Given the description of an element on the screen output the (x, y) to click on. 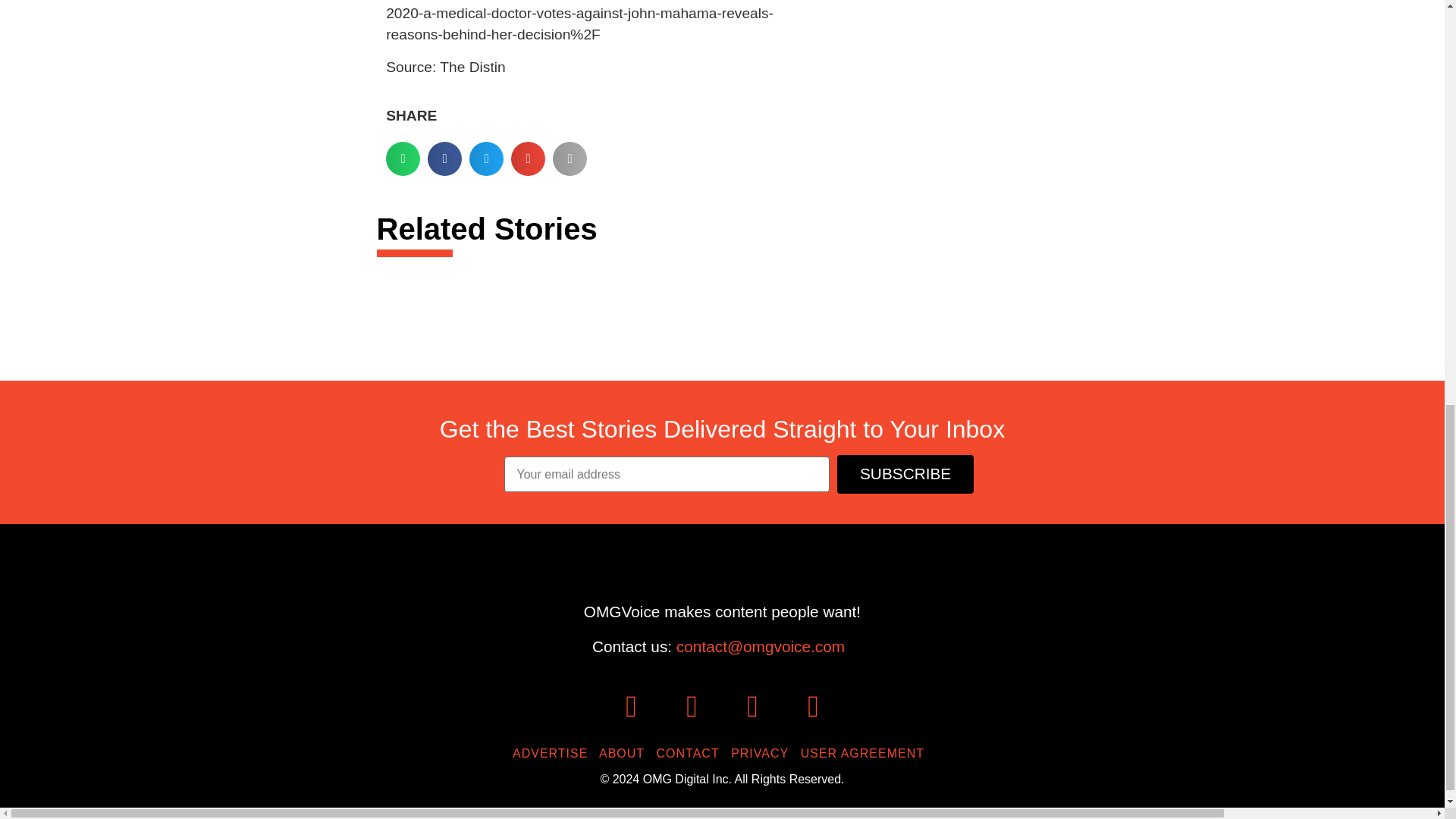
ABOUT (625, 753)
SUBSCRIBE (905, 474)
ADVERTISE (553, 753)
CONTACT (691, 753)
PRIVACY (763, 753)
USER AGREEMENT (865, 753)
